Given the description of an element on the screen output the (x, y) to click on. 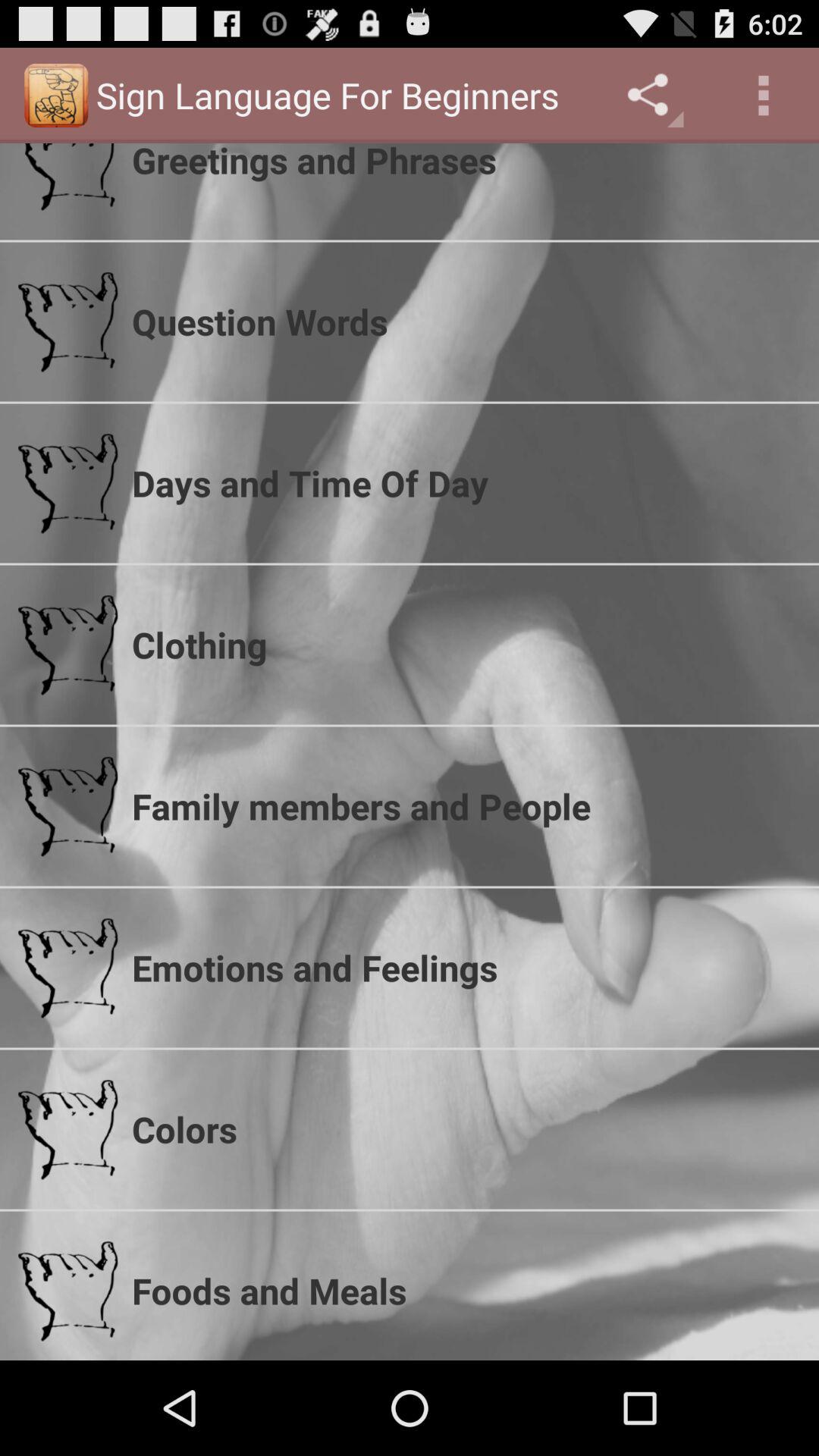
jump until the greetings and phrases item (465, 163)
